Given the description of an element on the screen output the (x, y) to click on. 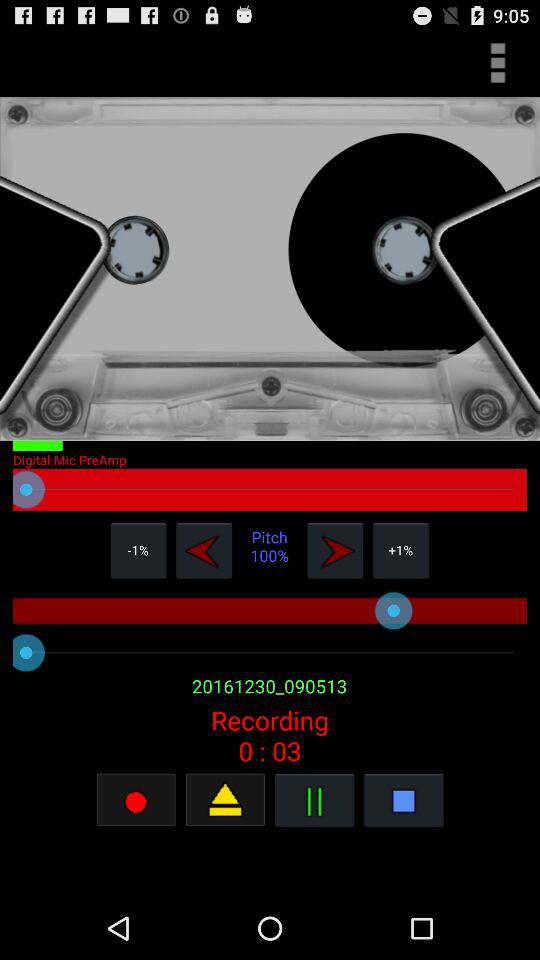
tap to pause (314, 799)
